Given the description of an element on the screen output the (x, y) to click on. 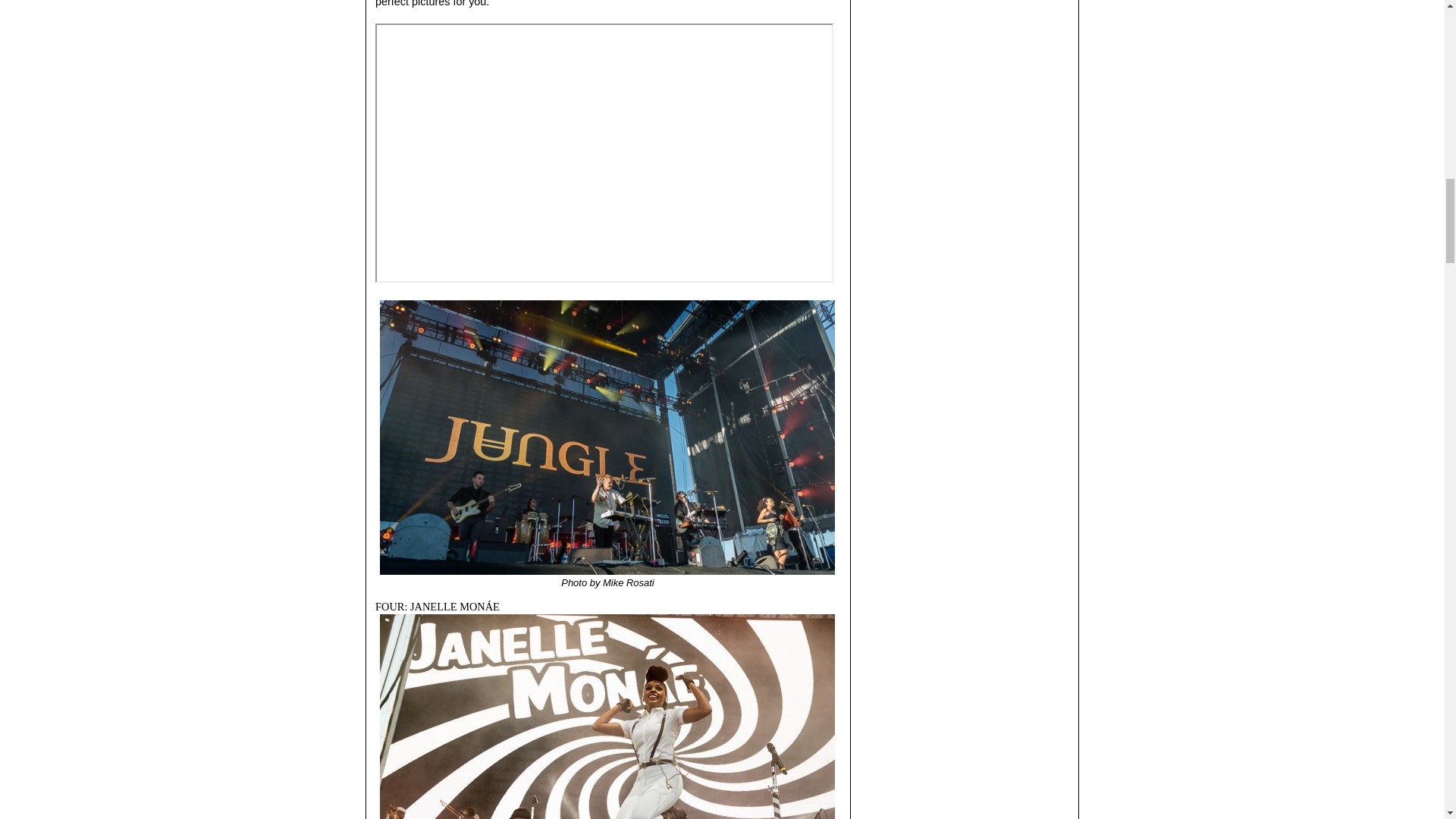
3rd party ad content (964, 264)
3rd party ad content (964, 12)
